Given the description of an element on the screen output the (x, y) to click on. 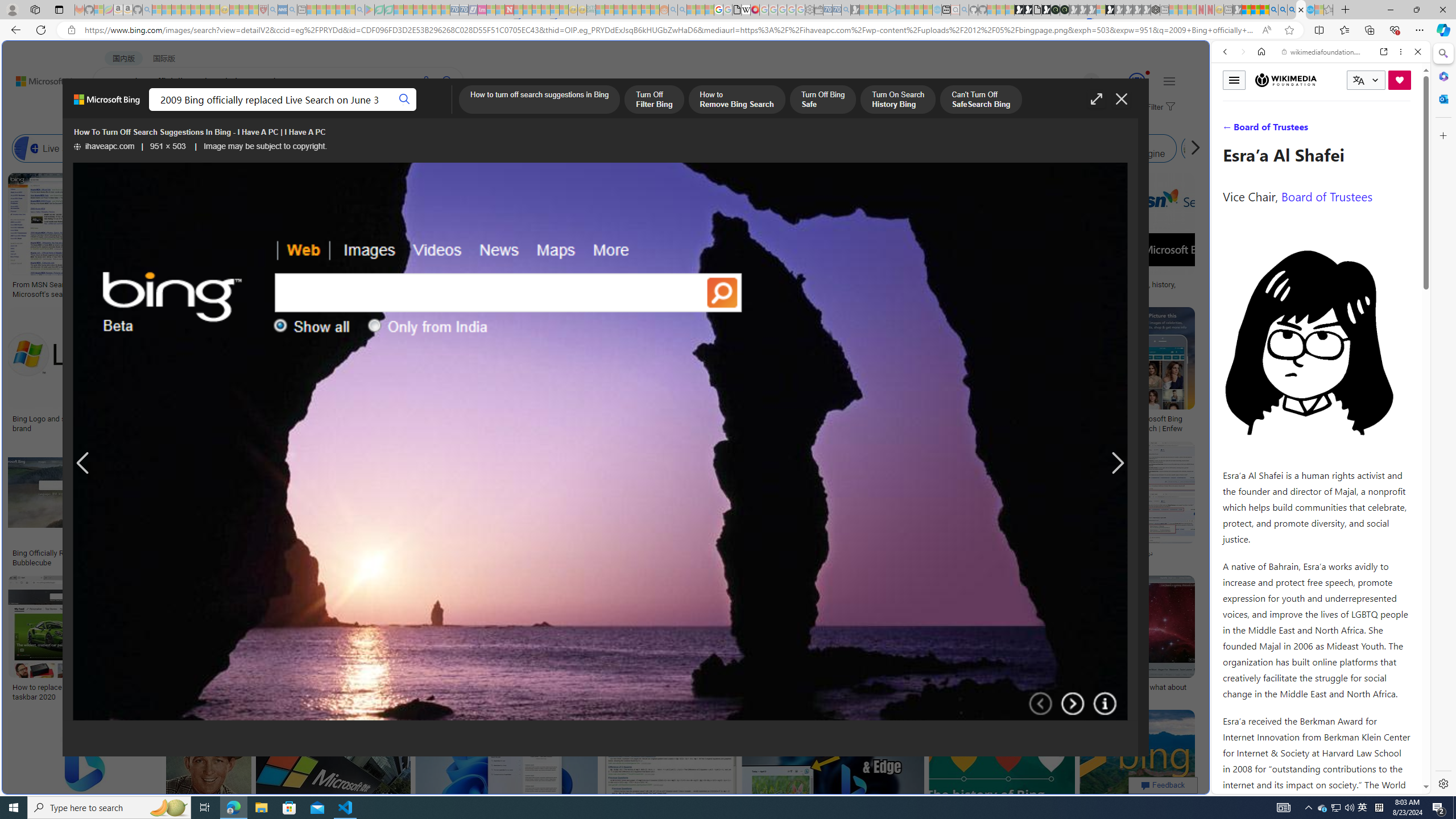
Bing - SEOLend (278, 552)
CURRENT LANGUAGE: (1366, 80)
Https Bing Search Q MSN (1234, 148)
Back to Bing search (41, 78)
Future Focus Report 2024 (1064, 9)
